Given the description of an element on the screen output the (x, y) to click on. 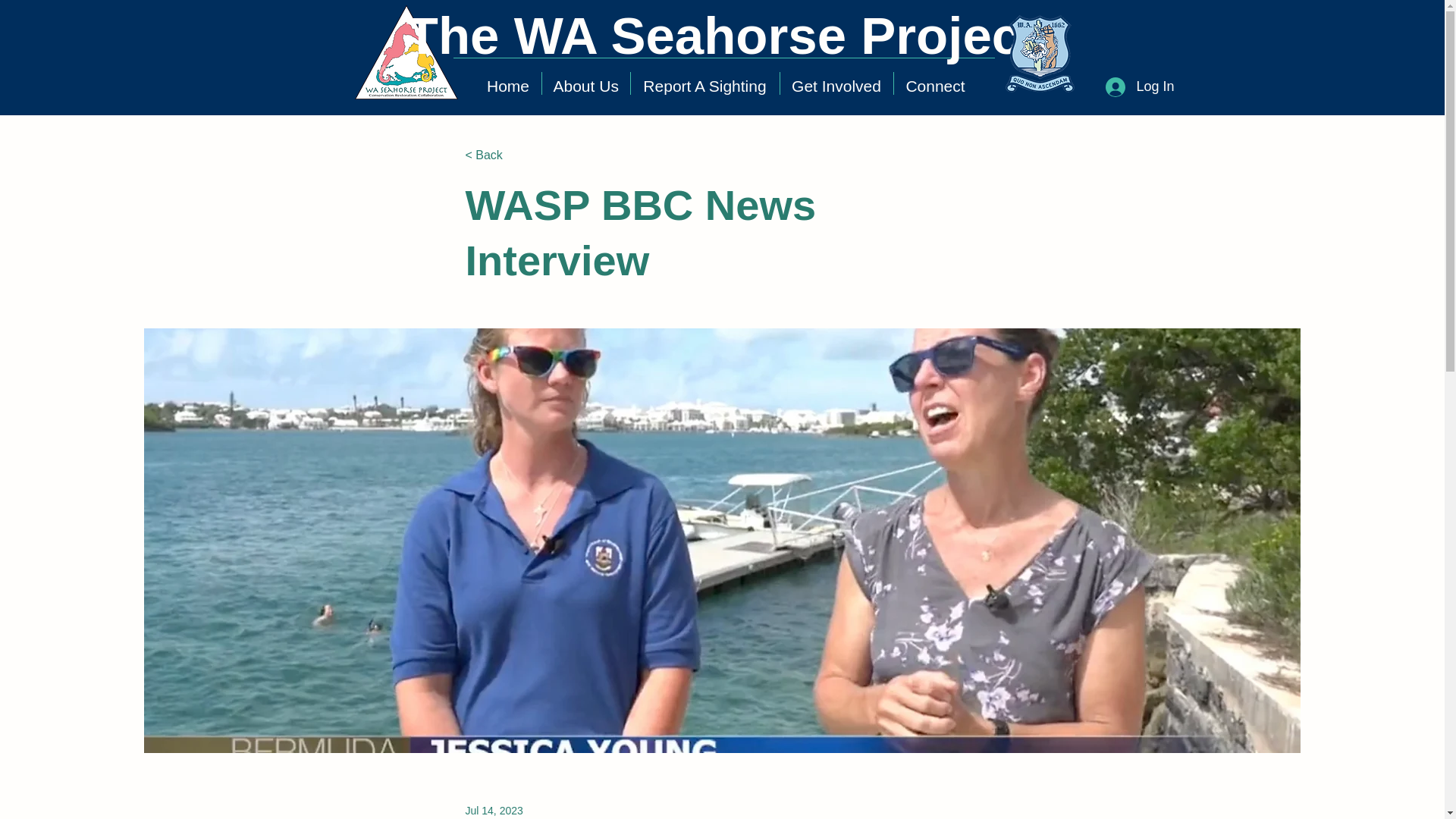
Connect (934, 83)
Report A Sighting (704, 83)
Log In (1139, 87)
Home (507, 83)
Get Involved (835, 83)
About Us (584, 83)
